Given the description of an element on the screen output the (x, y) to click on. 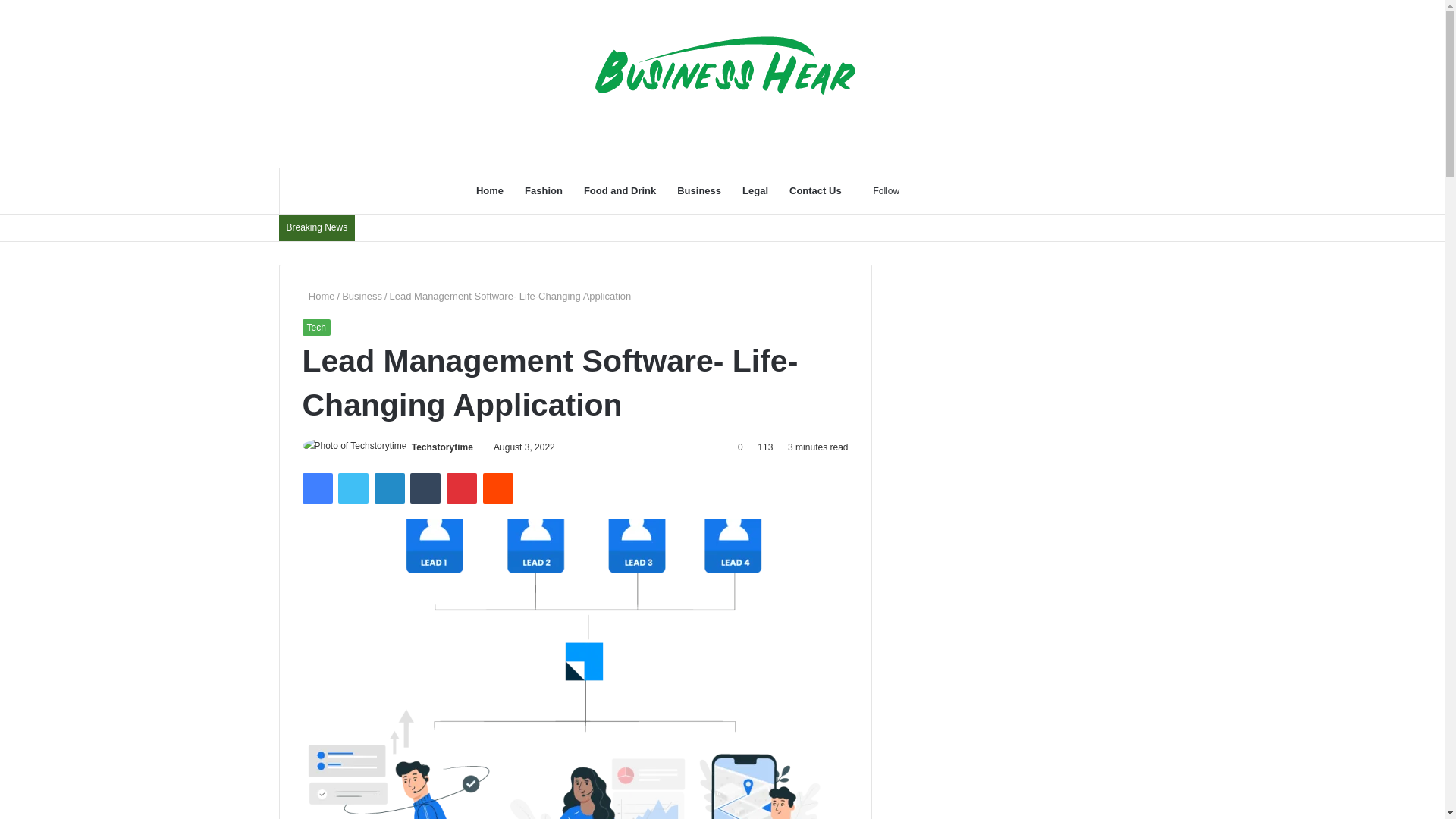
Techstorytime (442, 447)
Fashion (543, 190)
Pinterest (461, 488)
Techstorytime (442, 447)
Twitter (352, 488)
Business Hear (722, 83)
Facebook (316, 488)
Facebook (316, 488)
Business (699, 190)
Home (489, 190)
